Given the description of an element on the screen output the (x, y) to click on. 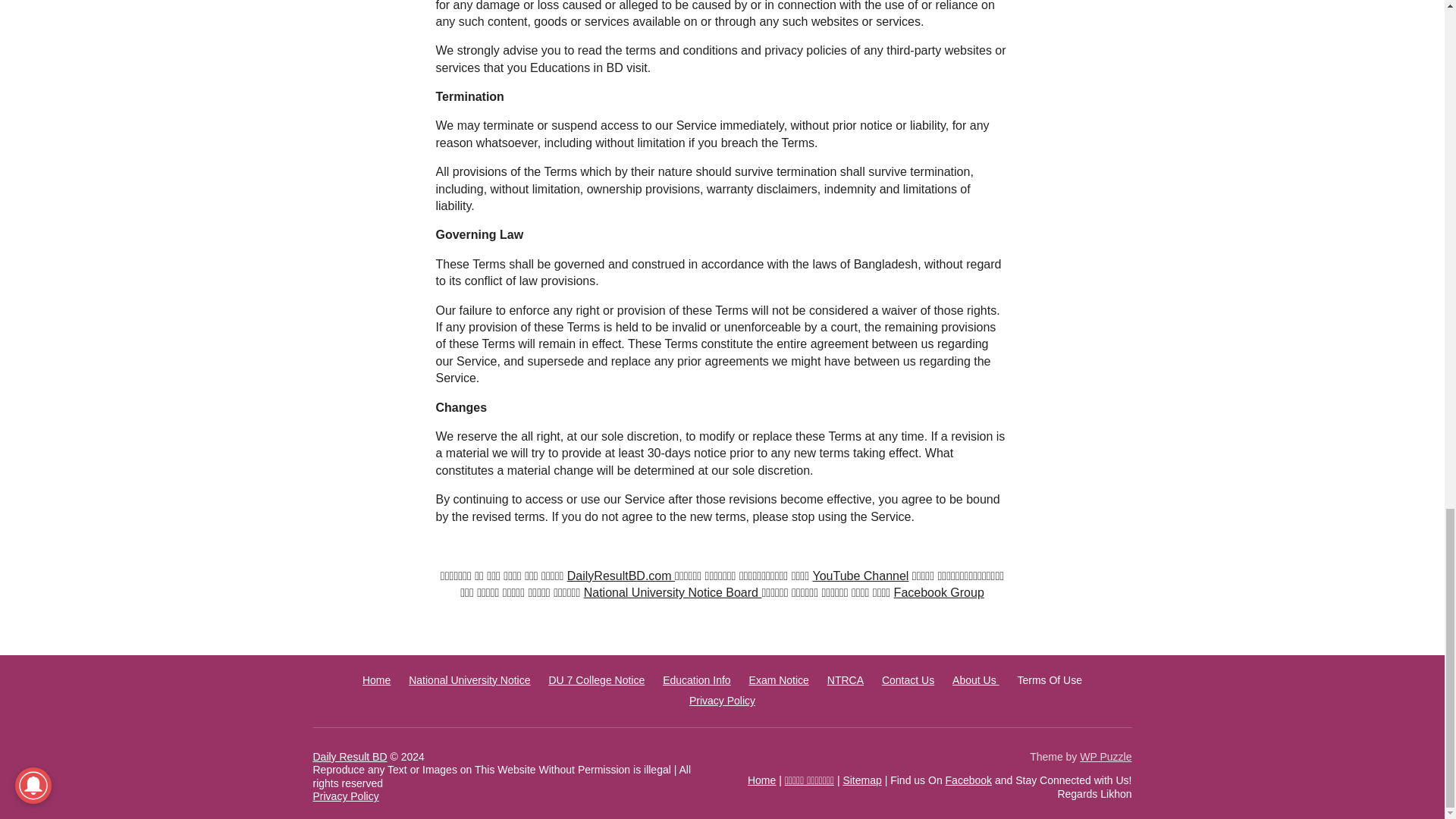
Facebook Group (938, 592)
Home (762, 779)
Privacy Policy (721, 700)
DU 7 College Notice (596, 680)
Home (376, 680)
About Us  (975, 680)
DailyResultBD.com (621, 575)
YouTube Channel (860, 575)
Education Info (696, 680)
NTRCA (845, 680)
National University Notice (469, 680)
Exam Notice (779, 680)
Contact Us (908, 680)
Daily Result BD (350, 756)
WP Puzzle (1105, 756)
